Given the description of an element on the screen output the (x, y) to click on. 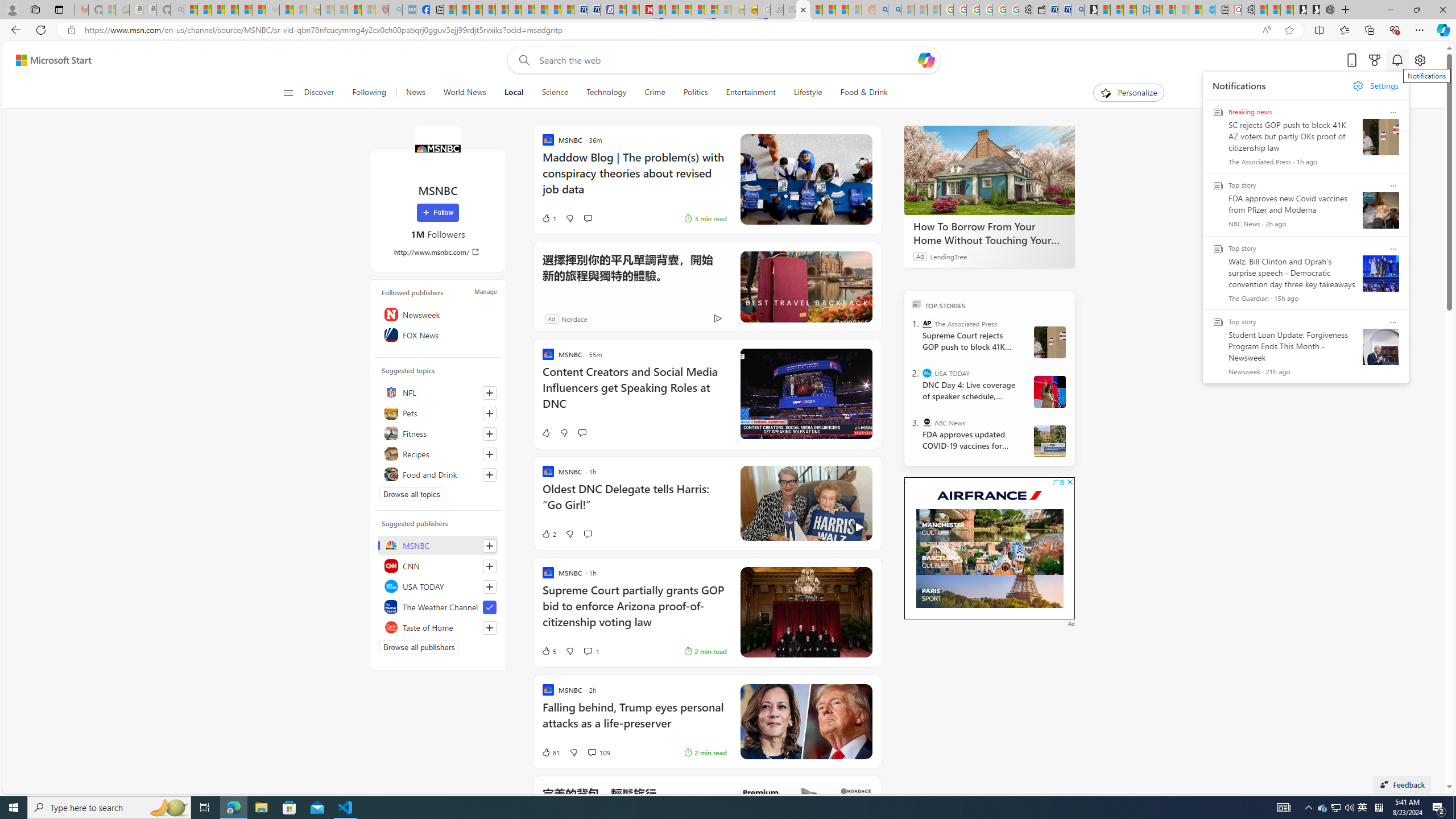
Skip to content (49, 59)
Browse all topics (412, 494)
Follow this topic (489, 474)
Open settings (1420, 60)
Notifications (1397, 60)
Trusted Community Engagement and Contributions | Guidelines (659, 9)
Taste of Home (437, 627)
Student Loan Update: Forgiveness Program Ends This Month (842, 9)
